Given the description of an element on the screen output the (x, y) to click on. 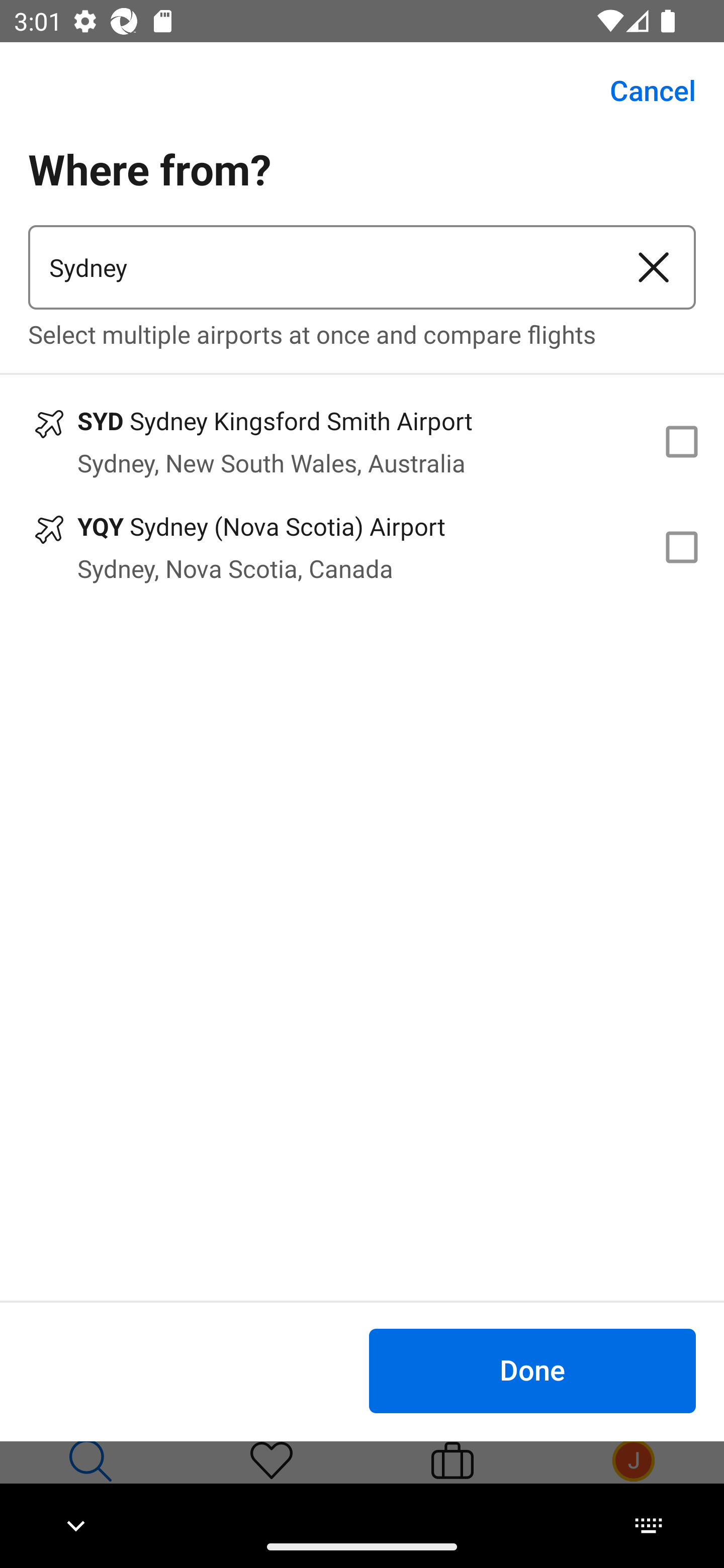
Cancel (641, 90)
Sydney (319, 266)
Clear airport or city (653, 266)
Done (532, 1370)
